Given the description of an element on the screen output the (x, y) to click on. 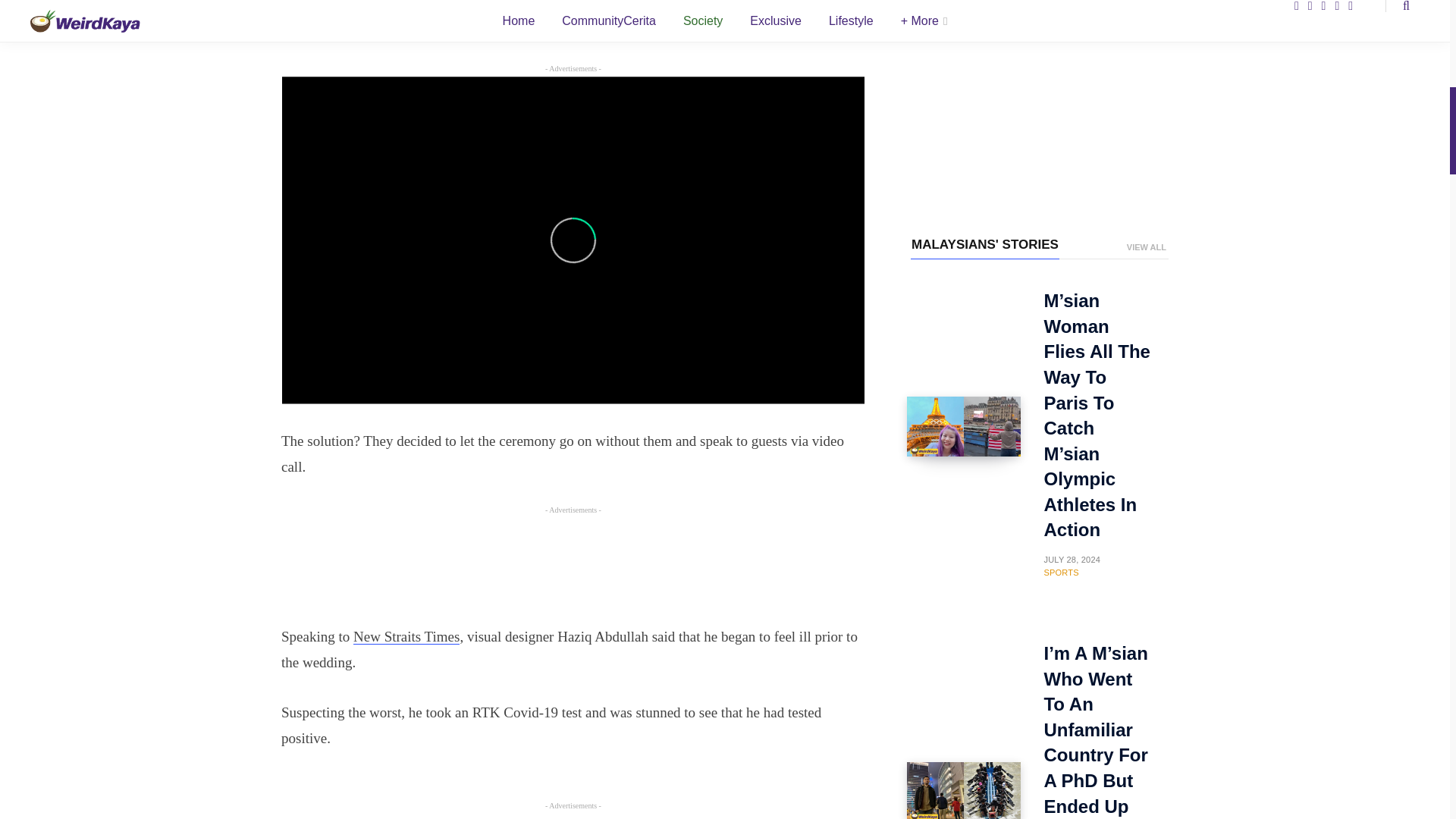
3rd party ad content (572, 566)
New Straits Times (406, 636)
